Given the description of an element on the screen output the (x, y) to click on. 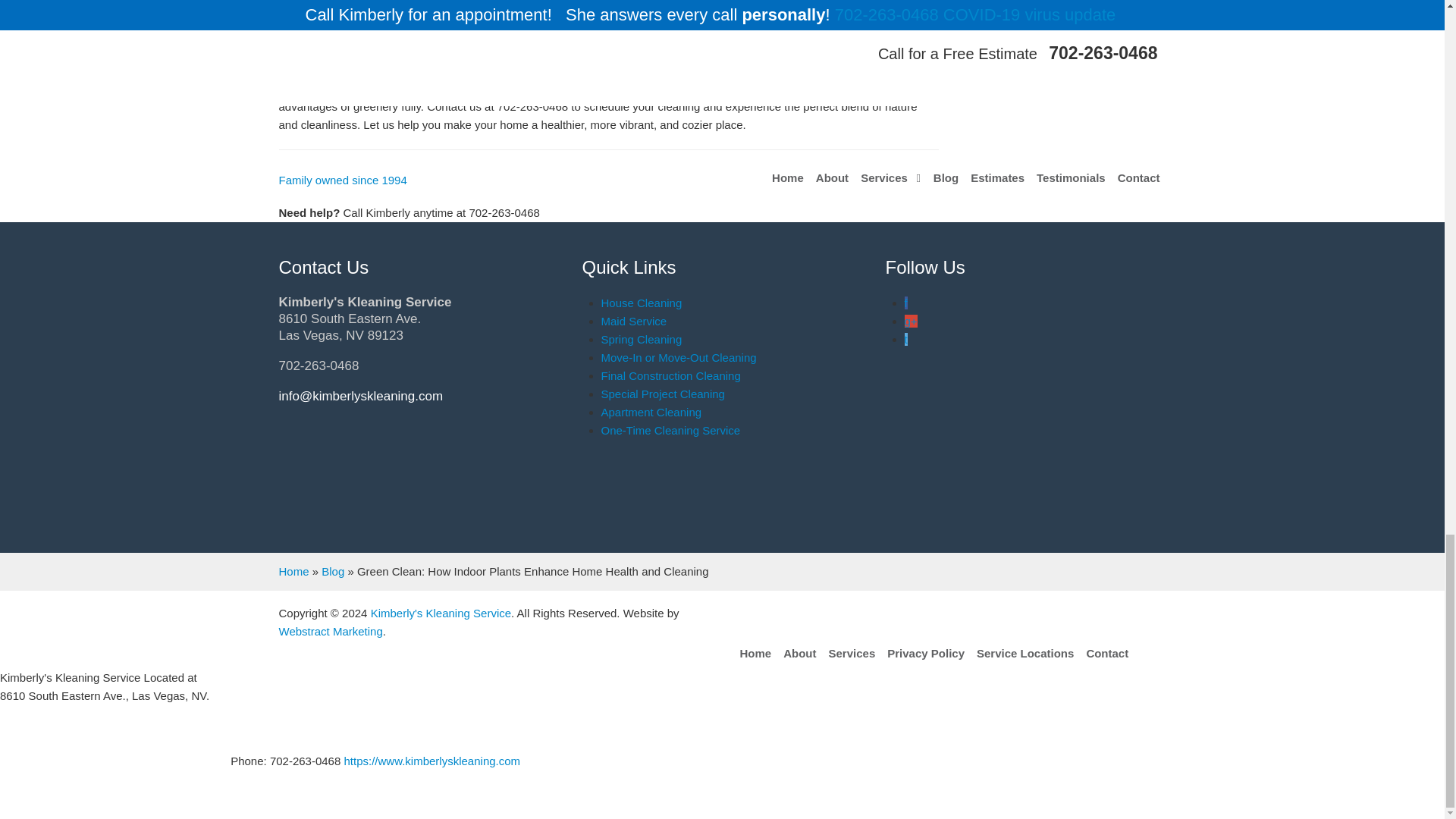
Spring Cleaning (640, 338)
Special Project Cleaning (661, 393)
Maid Service (632, 320)
Email Us (361, 396)
Move-In or Move-Out Cleaning (677, 357)
House Cleaning (640, 302)
Final Construction Cleaning (669, 375)
Apartment Cleaning (650, 411)
